Given the description of an element on the screen output the (x, y) to click on. 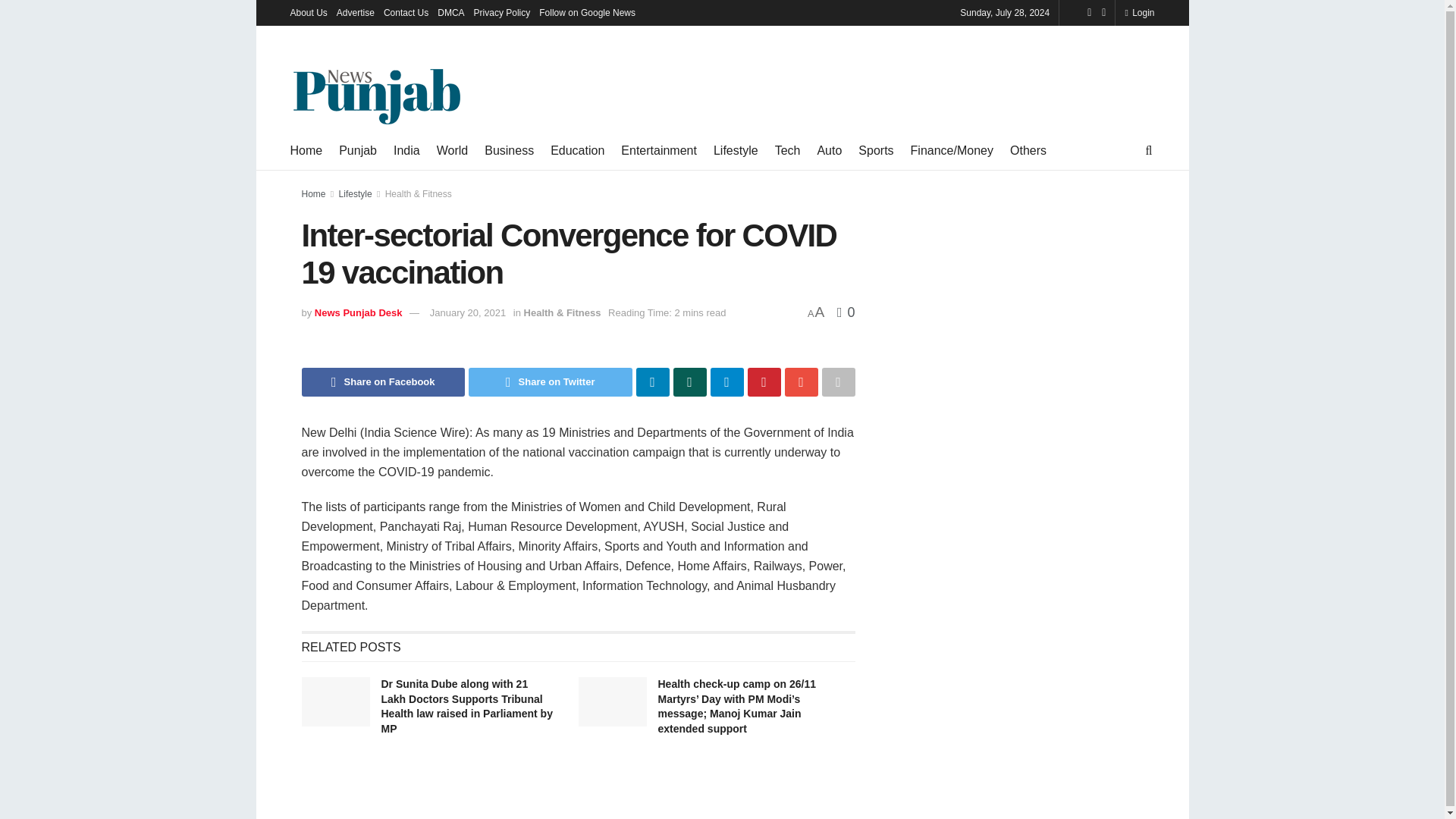
Tech (787, 150)
Others (1028, 150)
Login (1139, 12)
Privacy Policy (502, 12)
Entertainment (659, 150)
India (406, 150)
Sports (876, 150)
DMCA (451, 12)
World (452, 150)
Home (305, 150)
Advertise (355, 12)
Contact Us (406, 12)
Punjab (358, 150)
Lifestyle (735, 150)
Auto (828, 150)
